Given the description of an element on the screen output the (x, y) to click on. 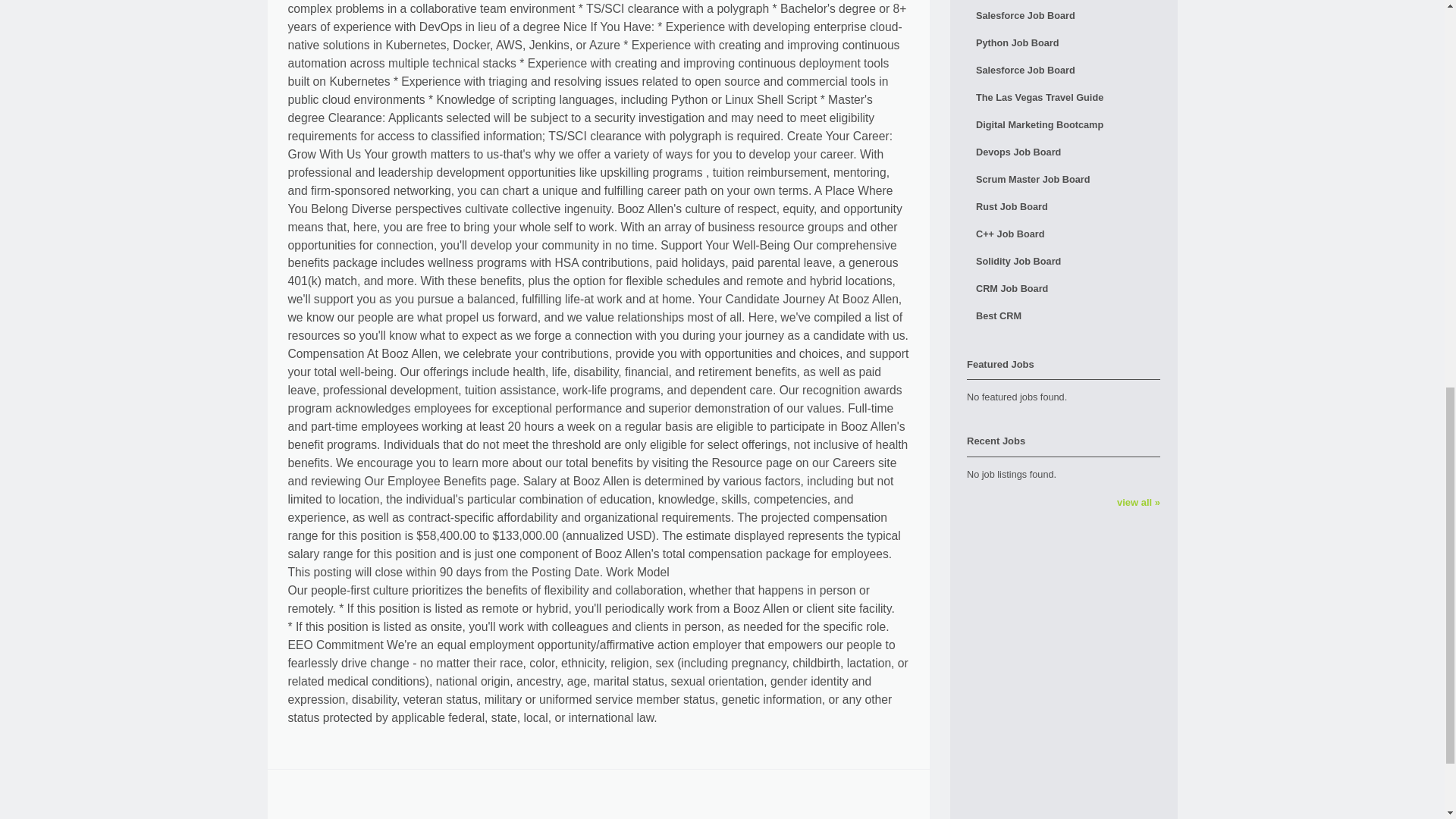
Digital Marketing Bootcamp (1063, 124)
Cobol Job Board (1063, 1)
The Las Vegas Travel Guide (1063, 97)
Salesforce Job Board (1063, 15)
Scrum Master Job Board (1063, 179)
Salesforce Job Board (1063, 70)
Python Job Board (1063, 42)
Rust Job Board (1063, 206)
Devops Job Board (1063, 152)
